Given the description of an element on the screen output the (x, y) to click on. 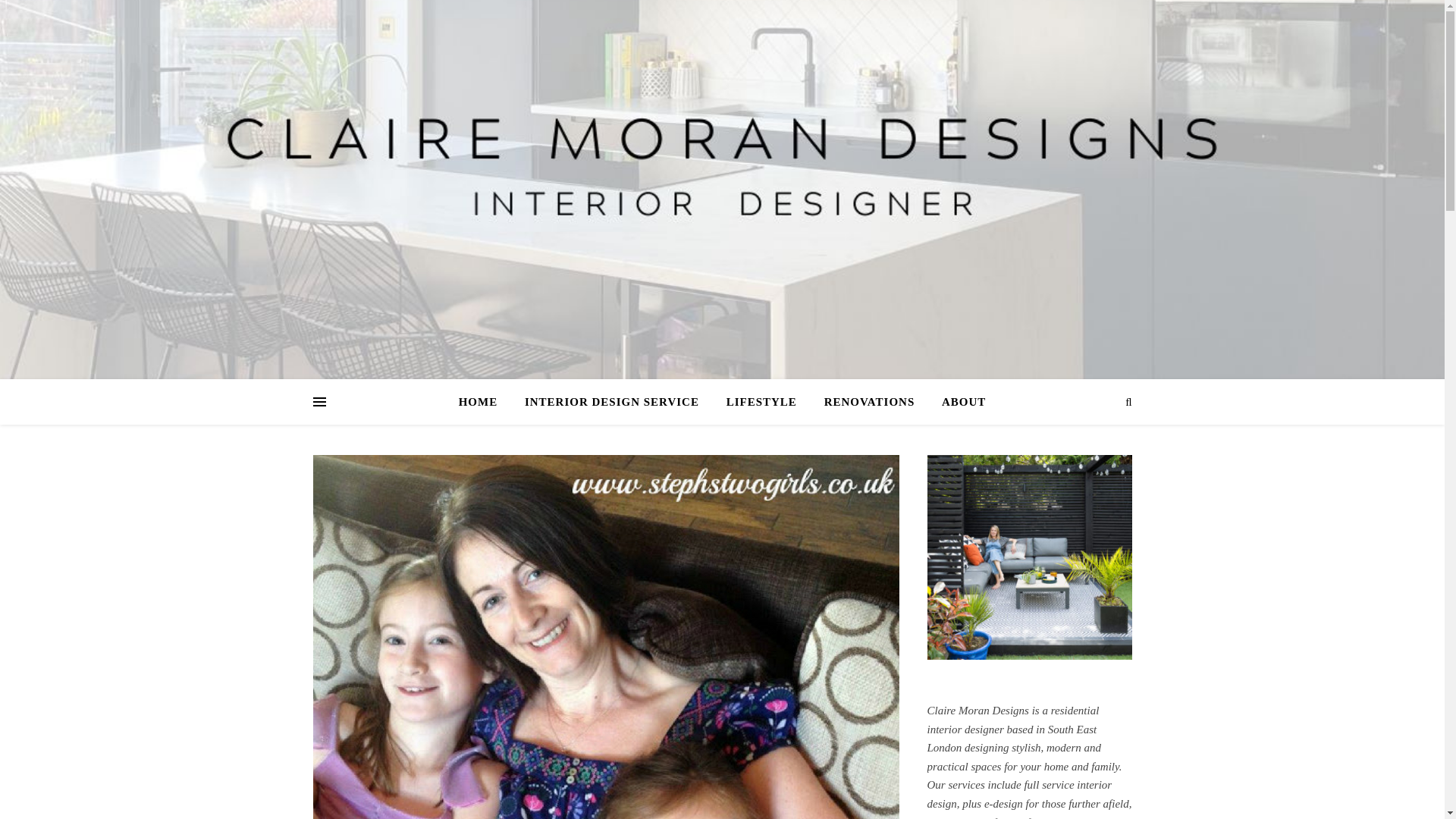
ABOUT (957, 402)
HOME (484, 402)
INTERIOR DESIGN SERVICE (611, 402)
LIFESTYLE (761, 402)
RENOVATIONS (869, 402)
